Given the description of an element on the screen output the (x, y) to click on. 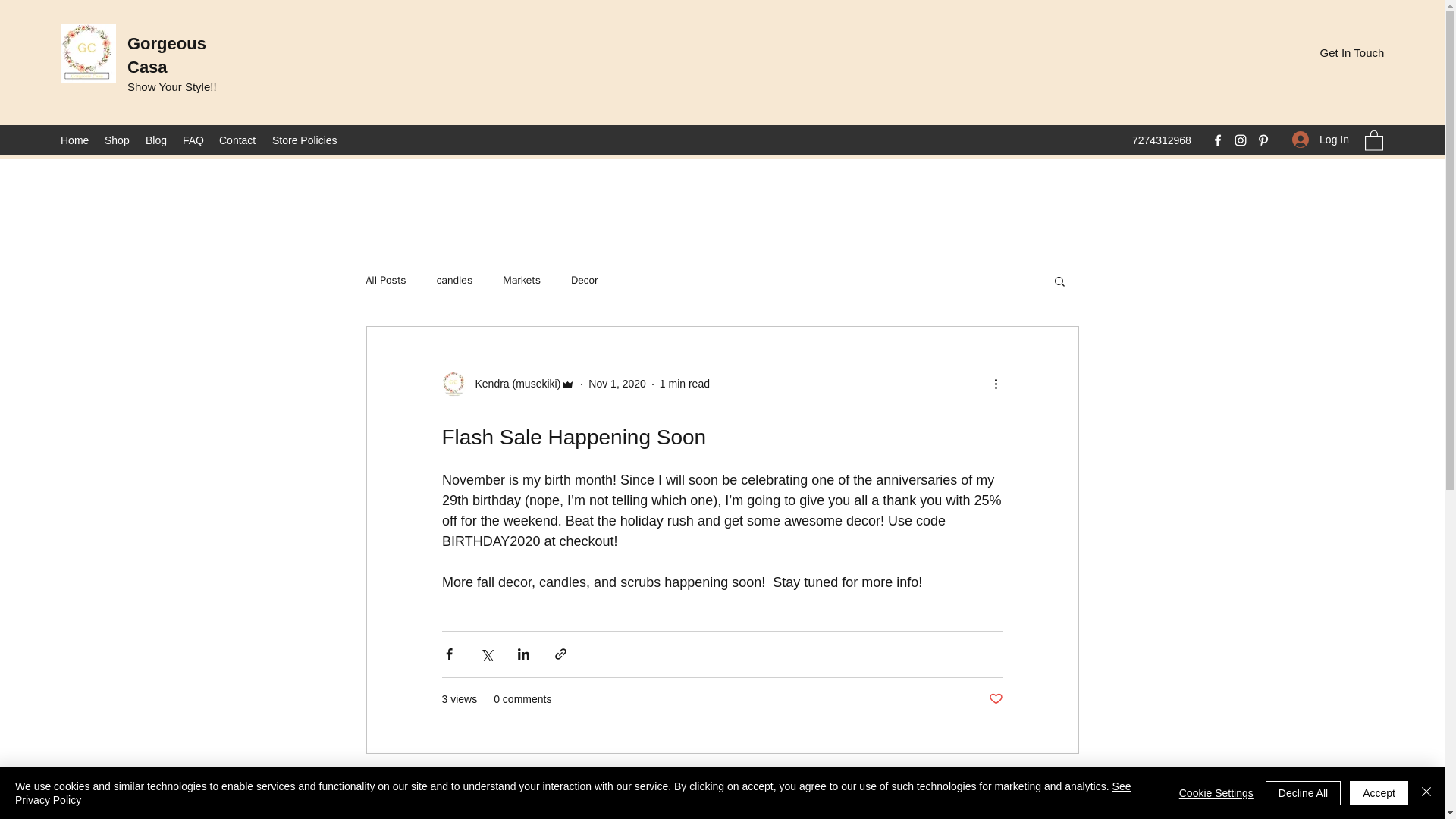
Blog (156, 139)
Gorgeous Casa (167, 55)
Nov 1, 2020 (617, 383)
Log In (1320, 139)
Markets (521, 280)
Store Policies (305, 139)
Contact (237, 139)
1 min read (684, 383)
See All (1061, 782)
Post not marked as liked (995, 699)
